Given the description of an element on the screen output the (x, y) to click on. 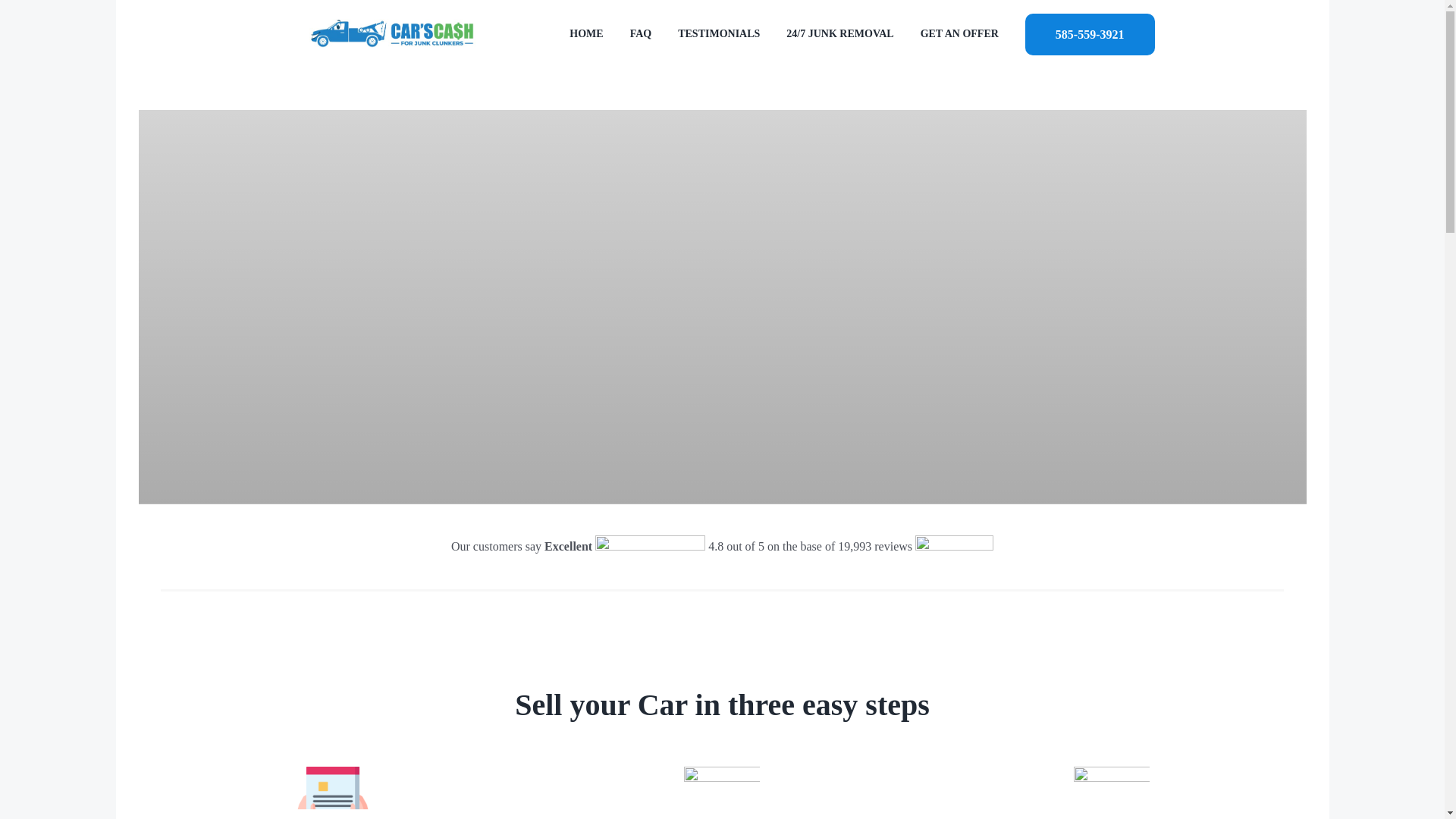
585-559-3921 (1089, 33)
TESTIMONIALS (719, 33)
GET AN OFFER (959, 33)
